Given the description of an element on the screen output the (x, y) to click on. 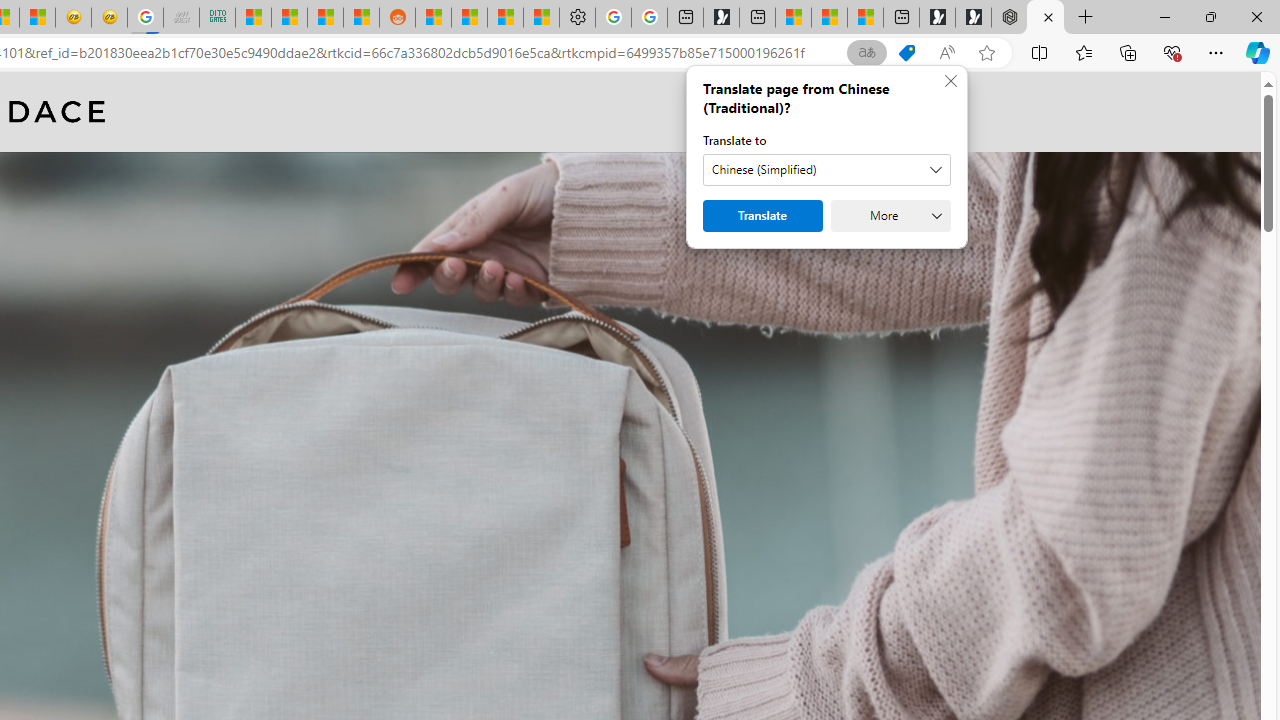
Show translate options (867, 53)
More (890, 215)
